Given the description of an element on the screen output the (x, y) to click on. 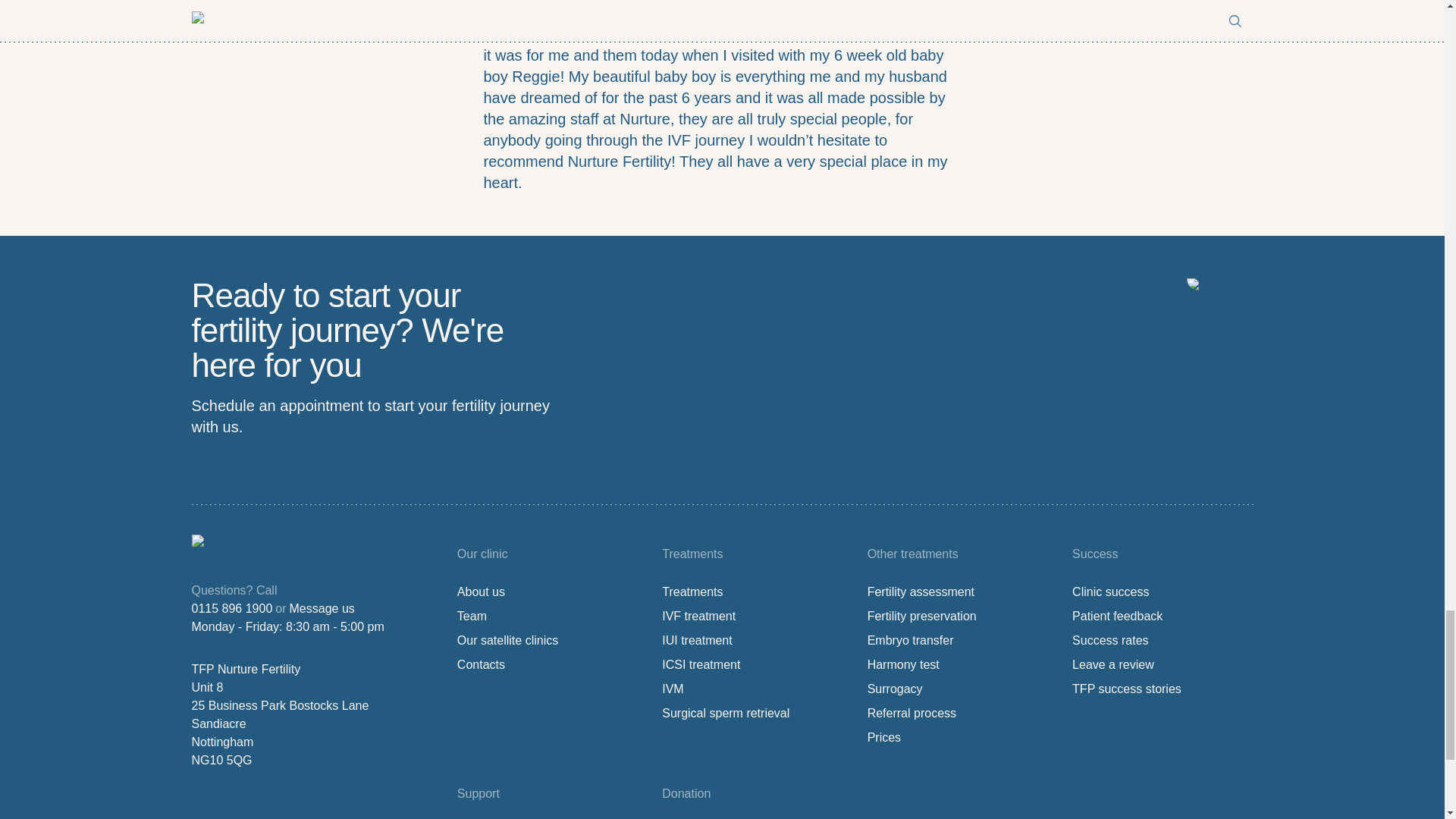
About us (481, 592)
IVM (672, 689)
Leave a review (1112, 664)
TFP success stories (1125, 689)
Surrogacy (895, 689)
Team (471, 616)
Treatments (692, 592)
Success rates (1109, 640)
Patient feedback (1116, 616)
0115 896 1900 (231, 608)
